Given the description of an element on the screen output the (x, y) to click on. 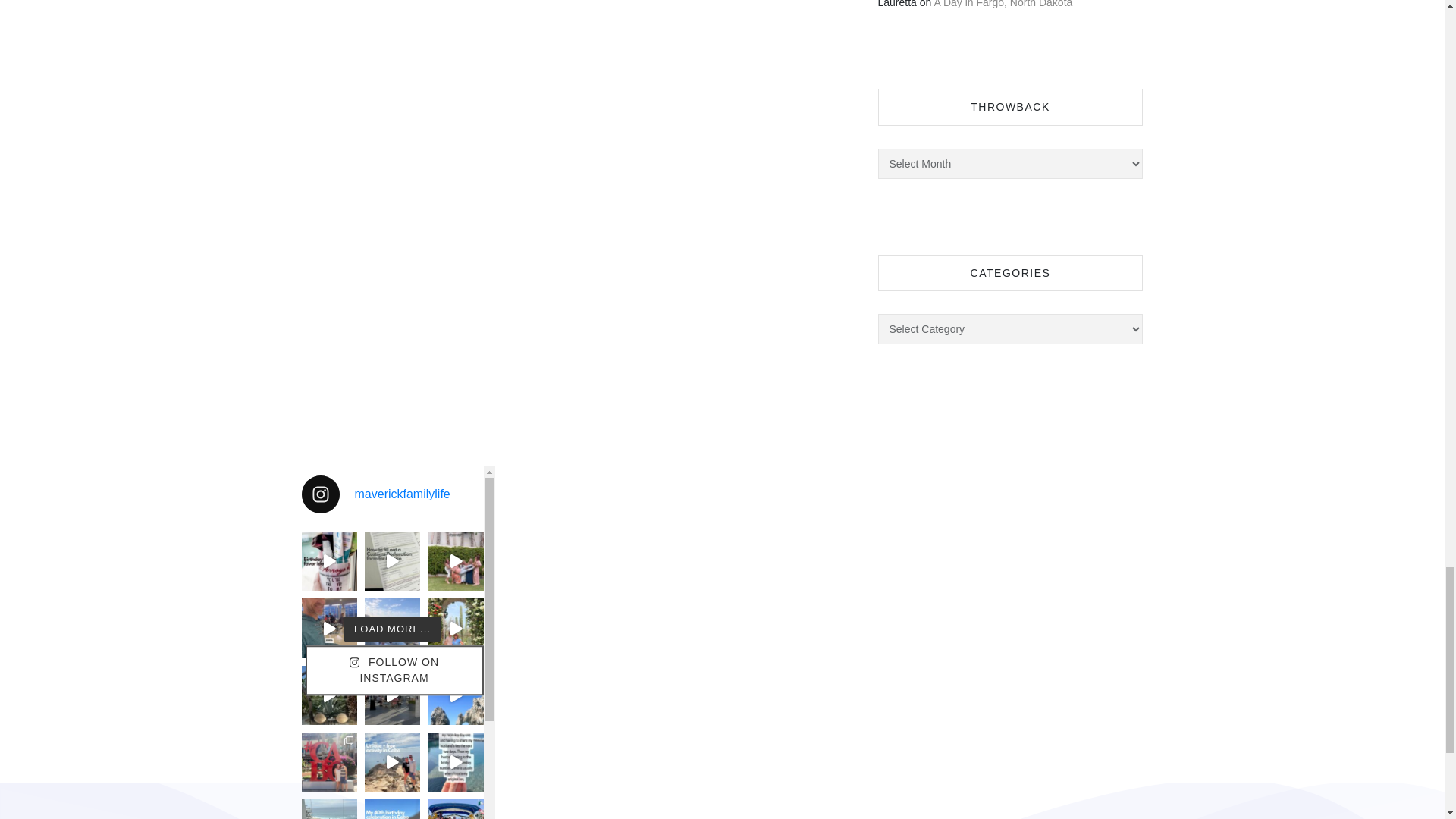
A Day in Fargo, North Dakota (1002, 4)
maverickfamilylife (392, 494)
